Given the description of an element on the screen output the (x, y) to click on. 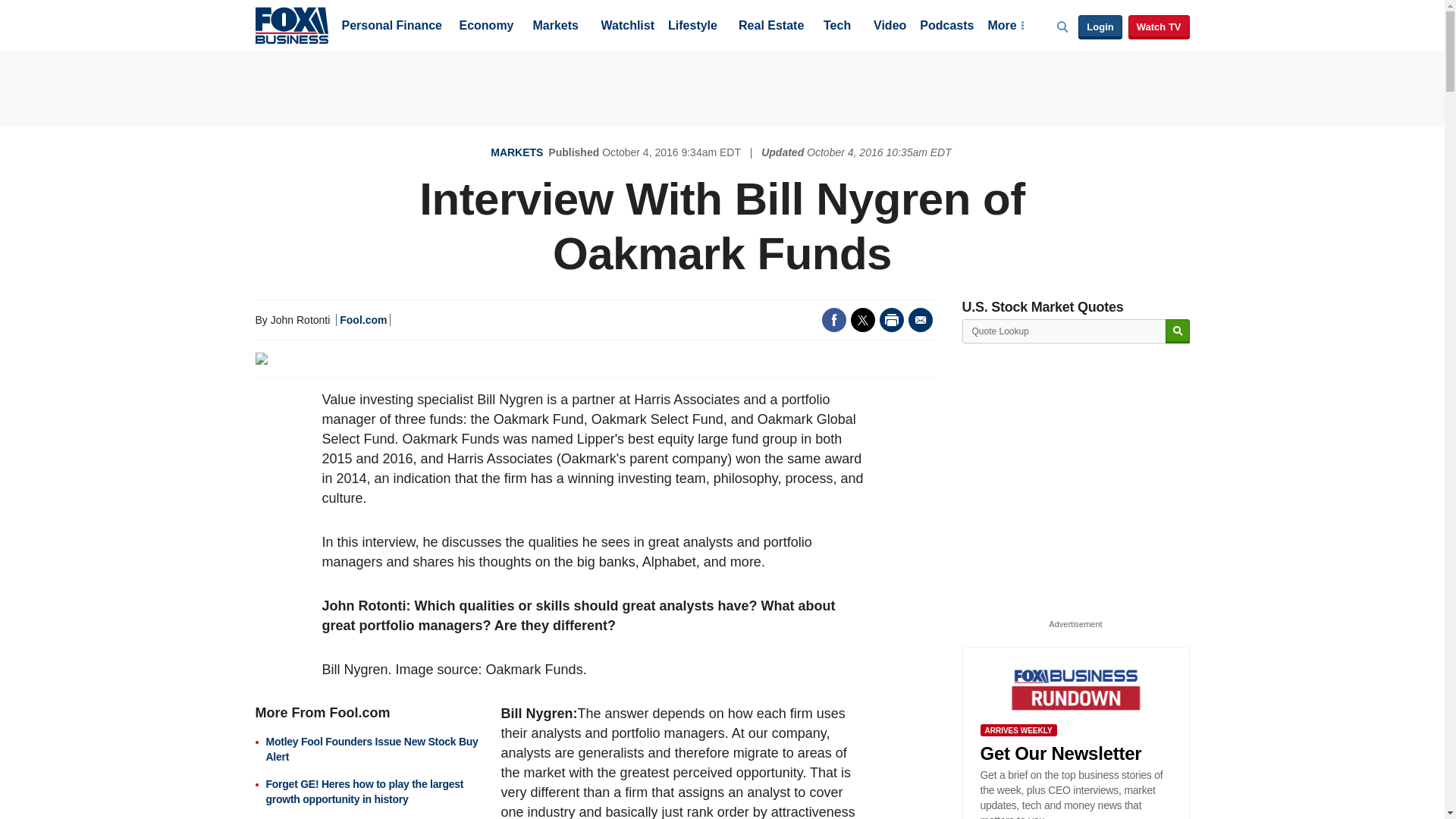
Watch TV (1158, 27)
Real Estate (770, 27)
Tech (837, 27)
Markets (555, 27)
Personal Finance (391, 27)
Video (889, 27)
Fox Business (290, 24)
Search (1176, 331)
Watchlist (626, 27)
Economy (486, 27)
